Given the description of an element on the screen output the (x, y) to click on. 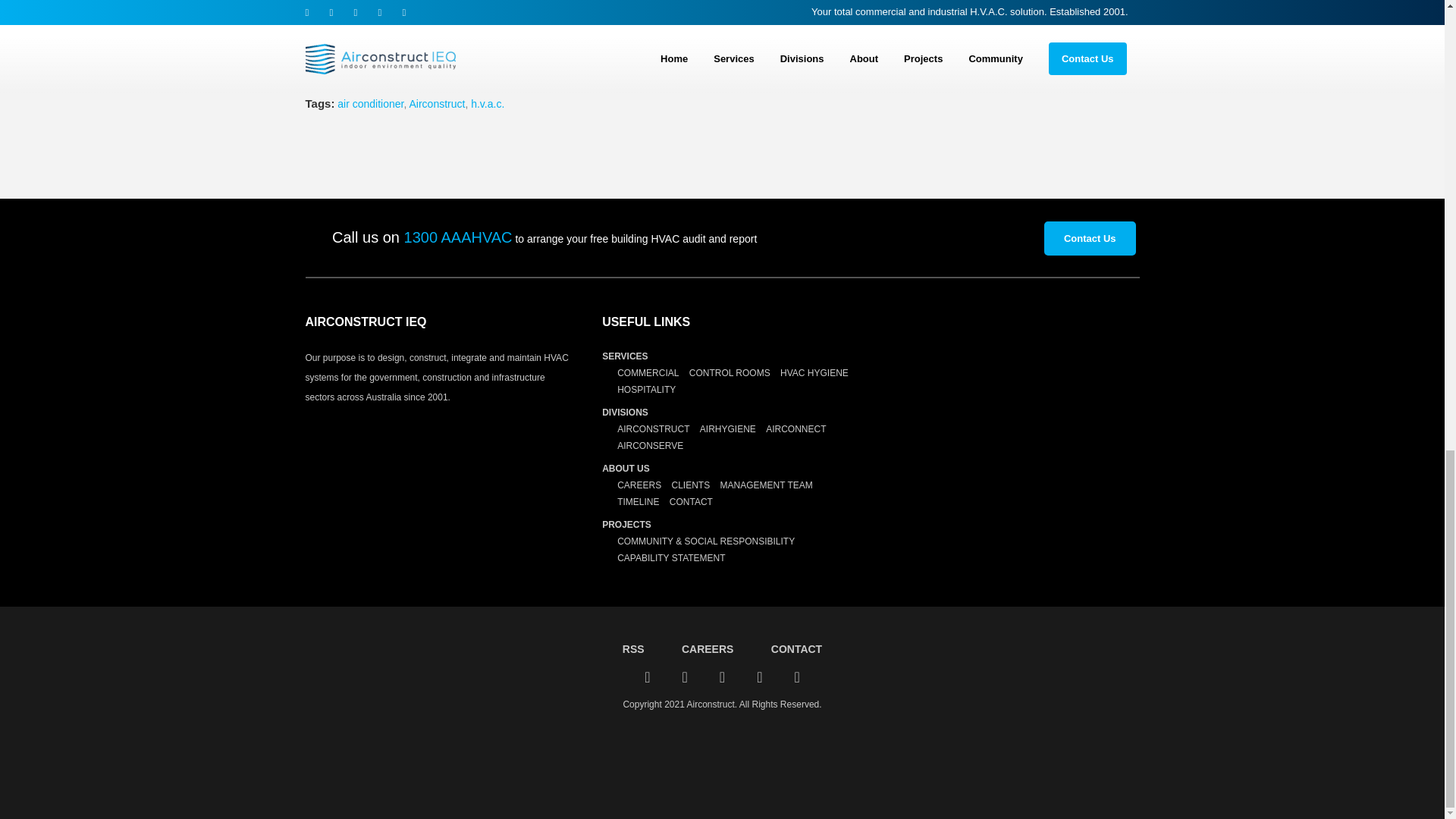
Airhygiene (459, 8)
